Given the description of an element on the screen output the (x, y) to click on. 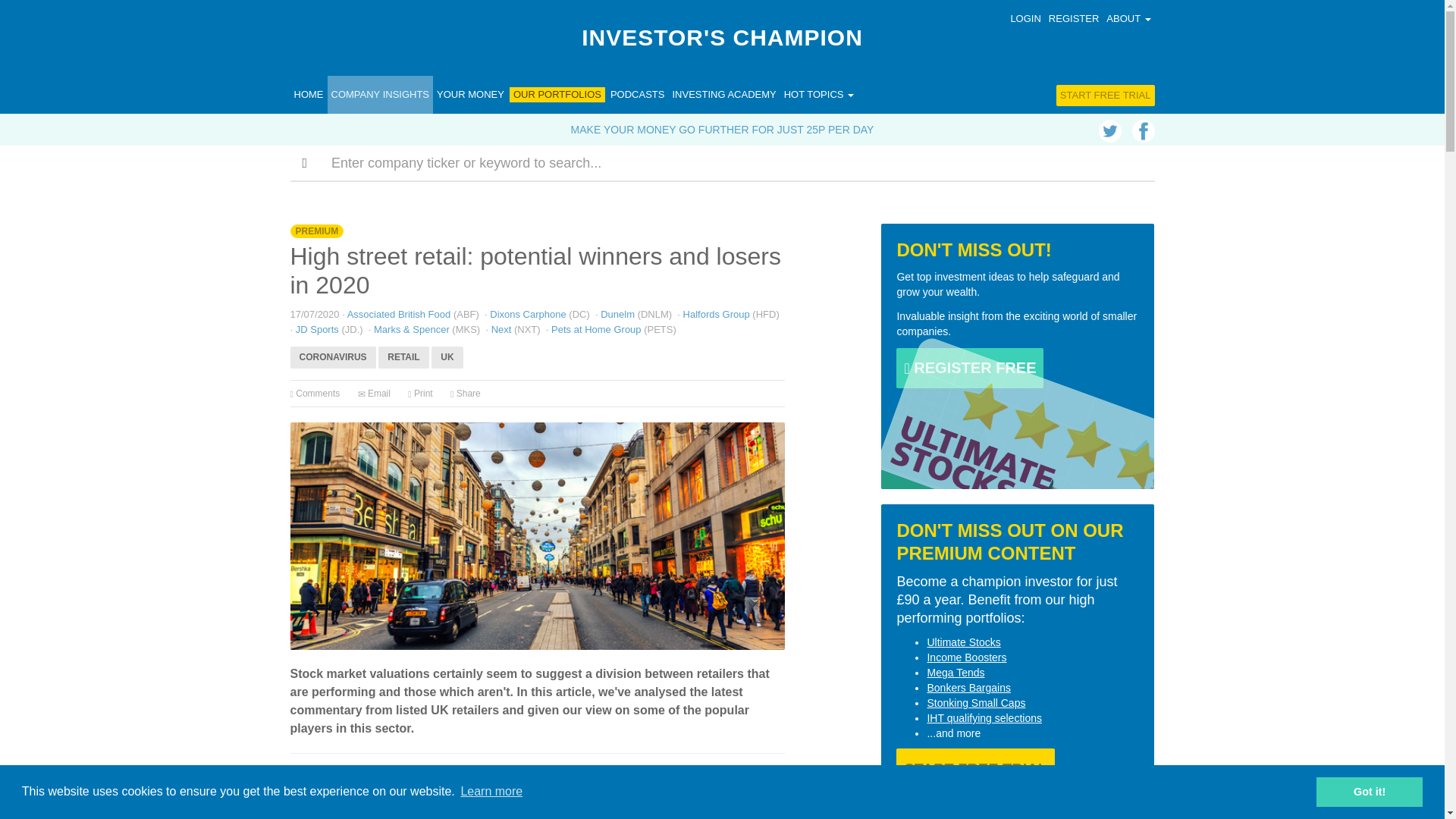
MAKE YOUR MONEY GO FURTHER FOR JUST 25P PER DAY (722, 129)
Learn more (491, 791)
LOGIN (1024, 18)
HOT TOPICS (818, 94)
YOUR MONEY (470, 94)
INVESTOR'S CHAMPION (721, 38)
PREMIUM (316, 232)
HOME (307, 94)
START FREE TRIAL (1105, 95)
Associated British Food (399, 314)
ABOUT (1128, 18)
INVESTING ACADEMY (723, 94)
OUR PORTFOLIOS (557, 94)
PODCASTS (637, 94)
COMPANY INSIGHTS (380, 94)
